Given the description of an element on the screen output the (x, y) to click on. 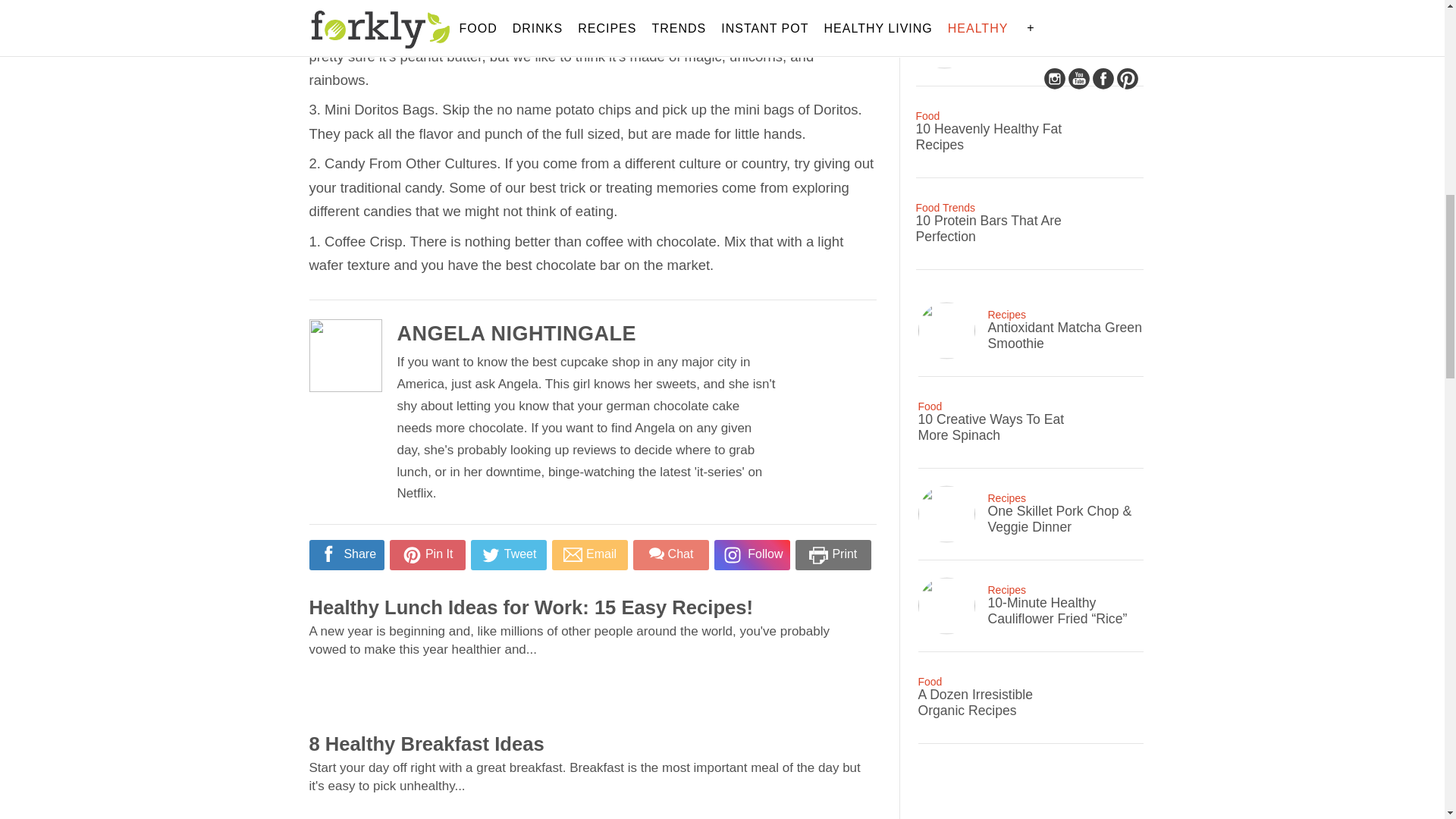
Tweet (508, 555)
Share by Email (589, 555)
Pin It (427, 555)
Print (832, 555)
Chat (670, 554)
Share (346, 554)
Email (589, 555)
